Given the description of an element on the screen output the (x, y) to click on. 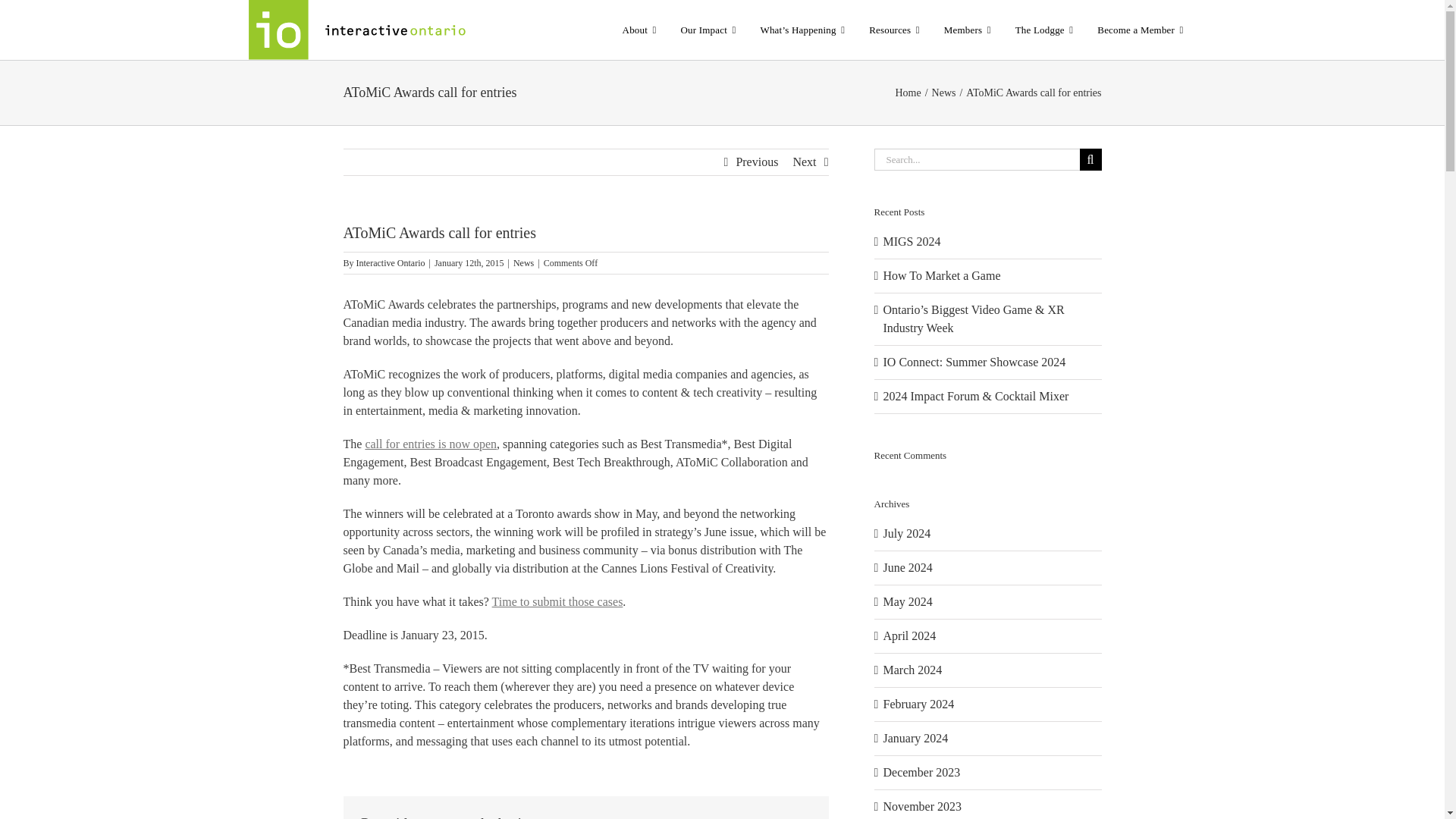
Resources (894, 29)
About (639, 29)
Posts by Interactive Ontario (390, 262)
The Lodgge (1044, 29)
Members (967, 29)
Our Impact (708, 29)
